Given the description of an element on the screen output the (x, y) to click on. 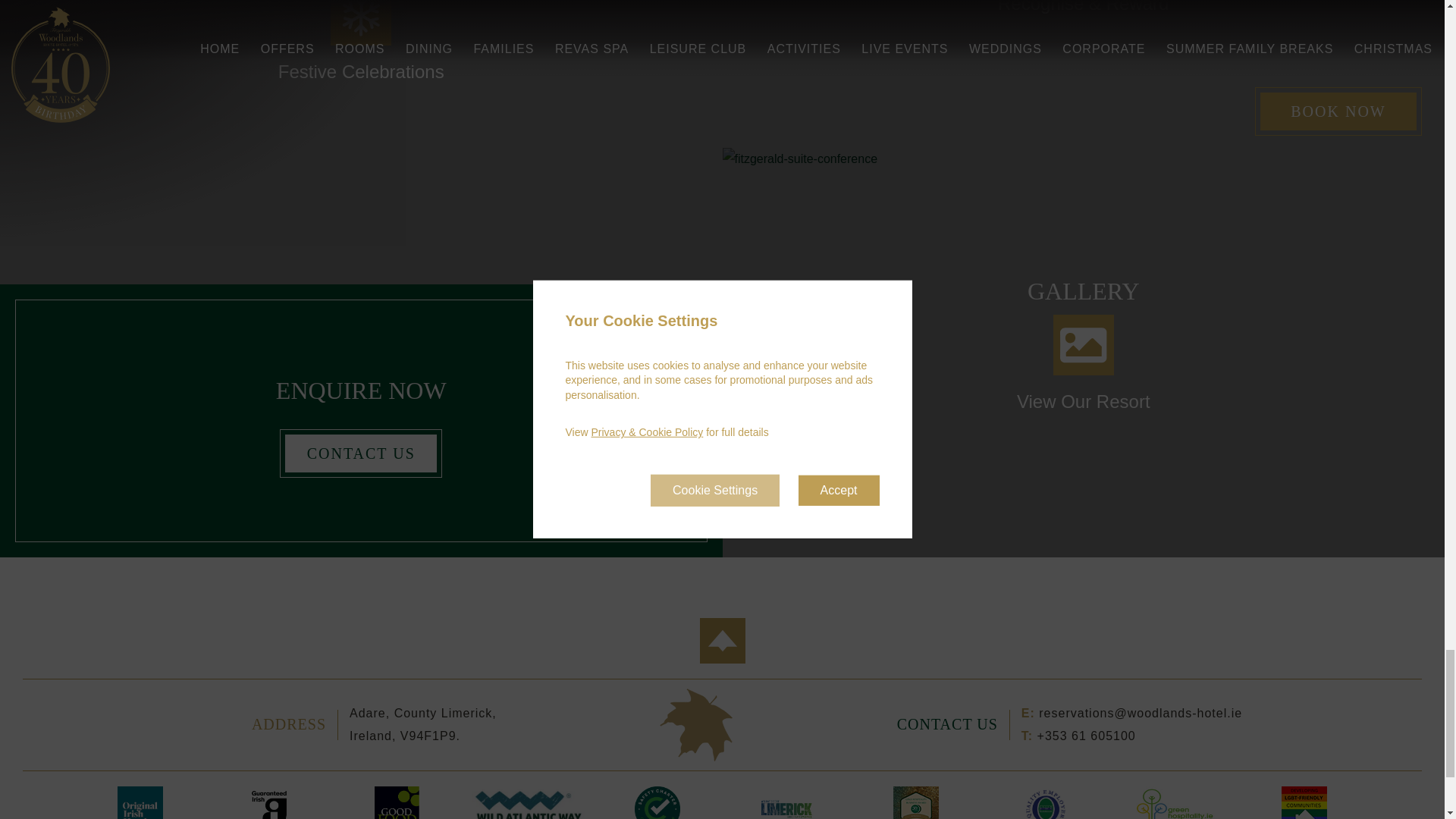
Guaranteed Irish (268, 802)
Original Irish Hotels (139, 802)
Email Us (1140, 712)
Wild Atlantic Way (528, 802)
Green Hospitality (1174, 802)
Good Food Ireland (398, 802)
Failte Ireland Safety Charter (657, 802)
Quality Employer (1045, 802)
Call Us (1085, 735)
limerick (785, 802)
Gold Hospitality Badge 2024 (915, 802)
LGBTQ Friendly (1304, 802)
